Given the description of an element on the screen output the (x, y) to click on. 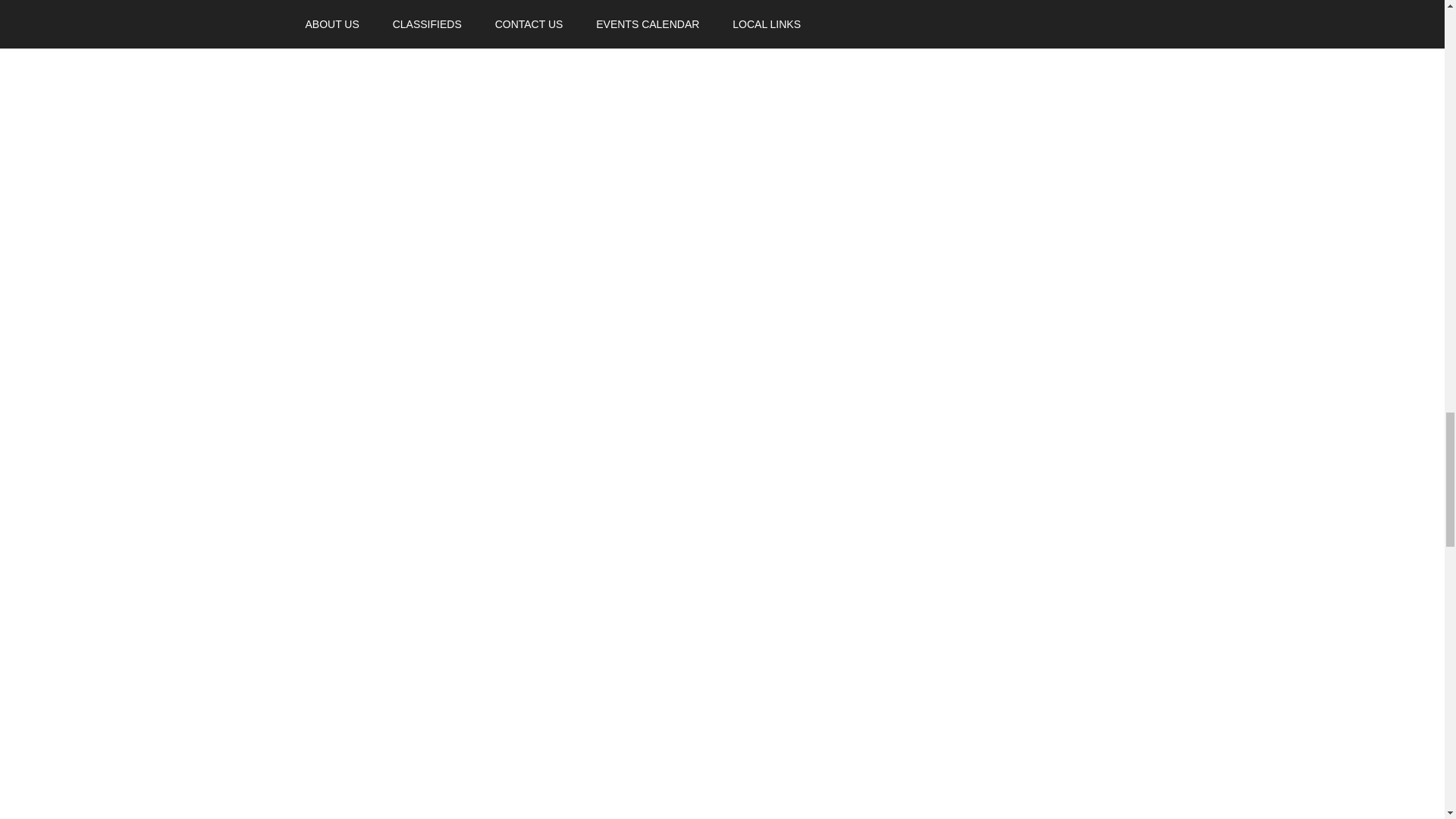
3rd party ad content (994, 509)
3rd party ad content (994, 63)
3rd party ad content (994, 271)
3rd party ad content (994, 735)
